Given the description of an element on the screen output the (x, y) to click on. 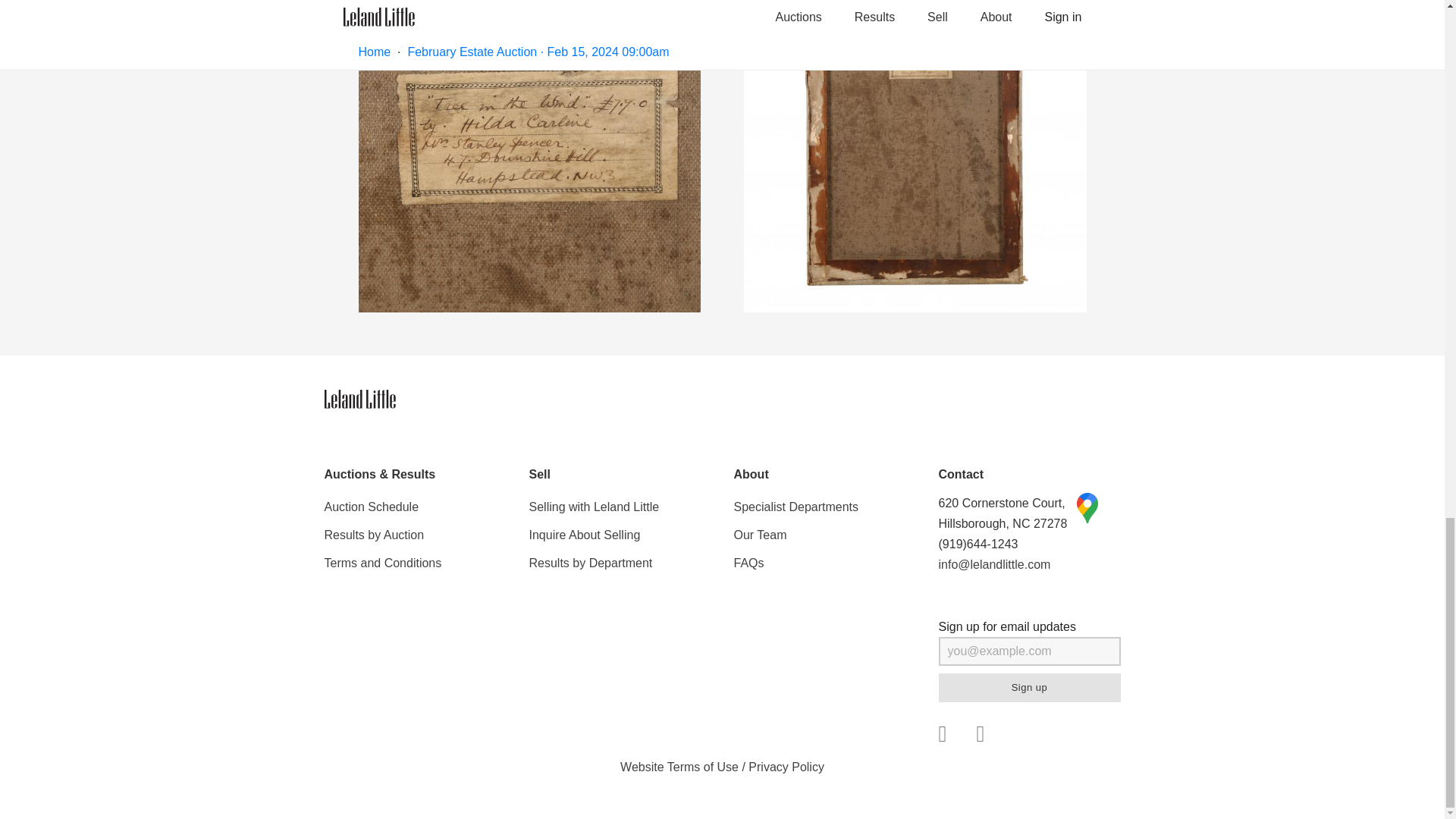
Results by Auction (415, 534)
FAQs (824, 562)
Inquire About Selling (620, 534)
Specialist Departments (824, 506)
Privacy Policy (786, 766)
Results by Department (620, 562)
Terms of Use (702, 766)
Selling with Leland Little (620, 506)
Our Team (824, 534)
Terms and Conditions (415, 562)
